Given the description of an element on the screen output the (x, y) to click on. 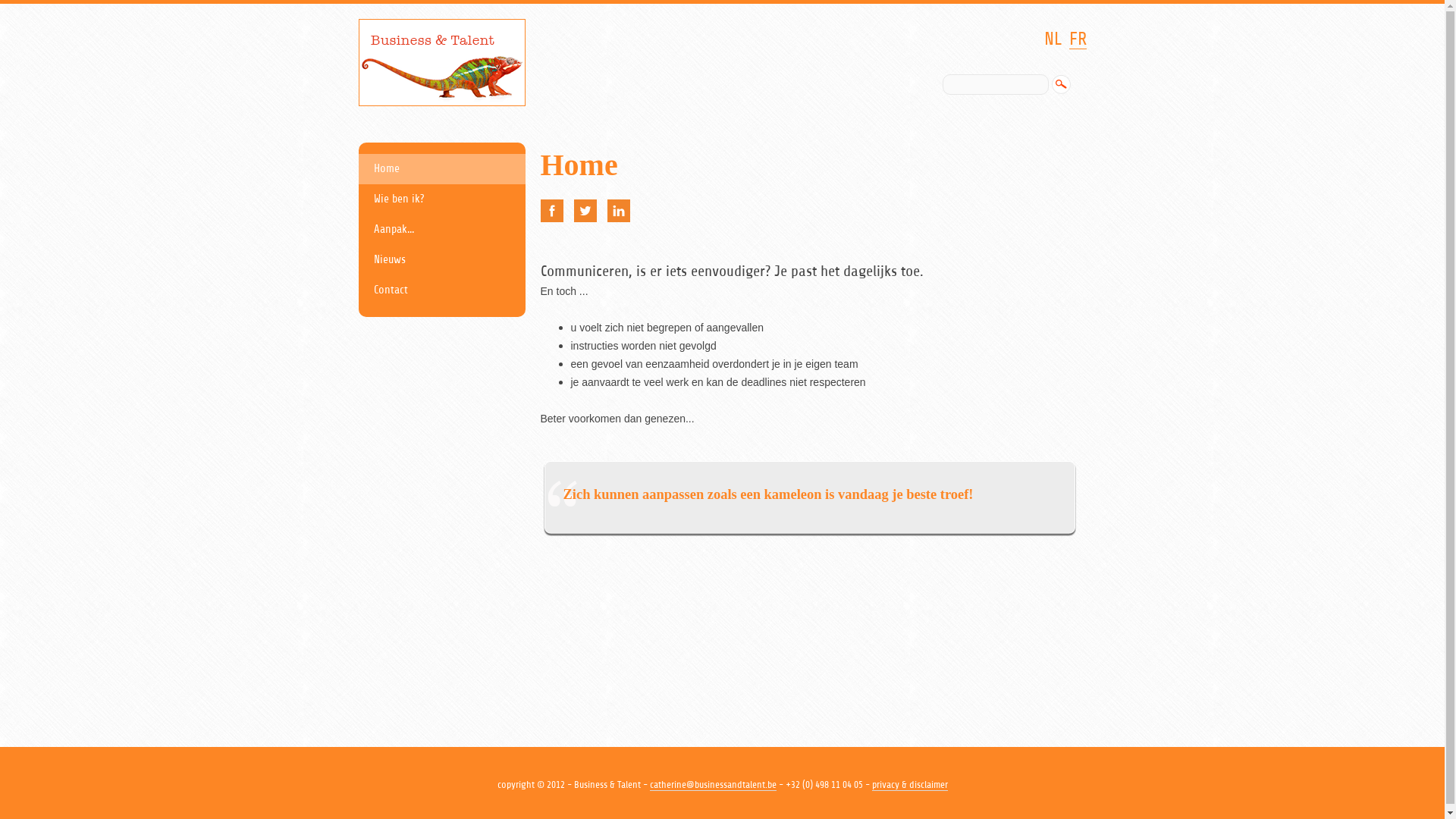
Home Element type: text (440, 168)
catherine@businessandtalent.be Element type: text (712, 784)
Geef de woorden op waarnaar u wilt zoeken. Element type: hover (994, 84)
Contact Element type: text (440, 290)
Nieuws Element type: text (440, 259)
FR Element type: text (1077, 38)
privacy & disclaimer Element type: text (909, 784)
NL Element type: text (1051, 38)
Wie ben ik? Element type: text (440, 199)
Zoeken Element type: text (1060, 84)
Business and Talent Element type: text (440, 63)
Overslaan en naar de algemene inhoud gaan Element type: text (724, 3)
T Element type: text (584, 210)
F Element type: text (550, 210)
L Element type: text (617, 210)
Aanpak... Element type: text (440, 229)
